Given the description of an element on the screen output the (x, y) to click on. 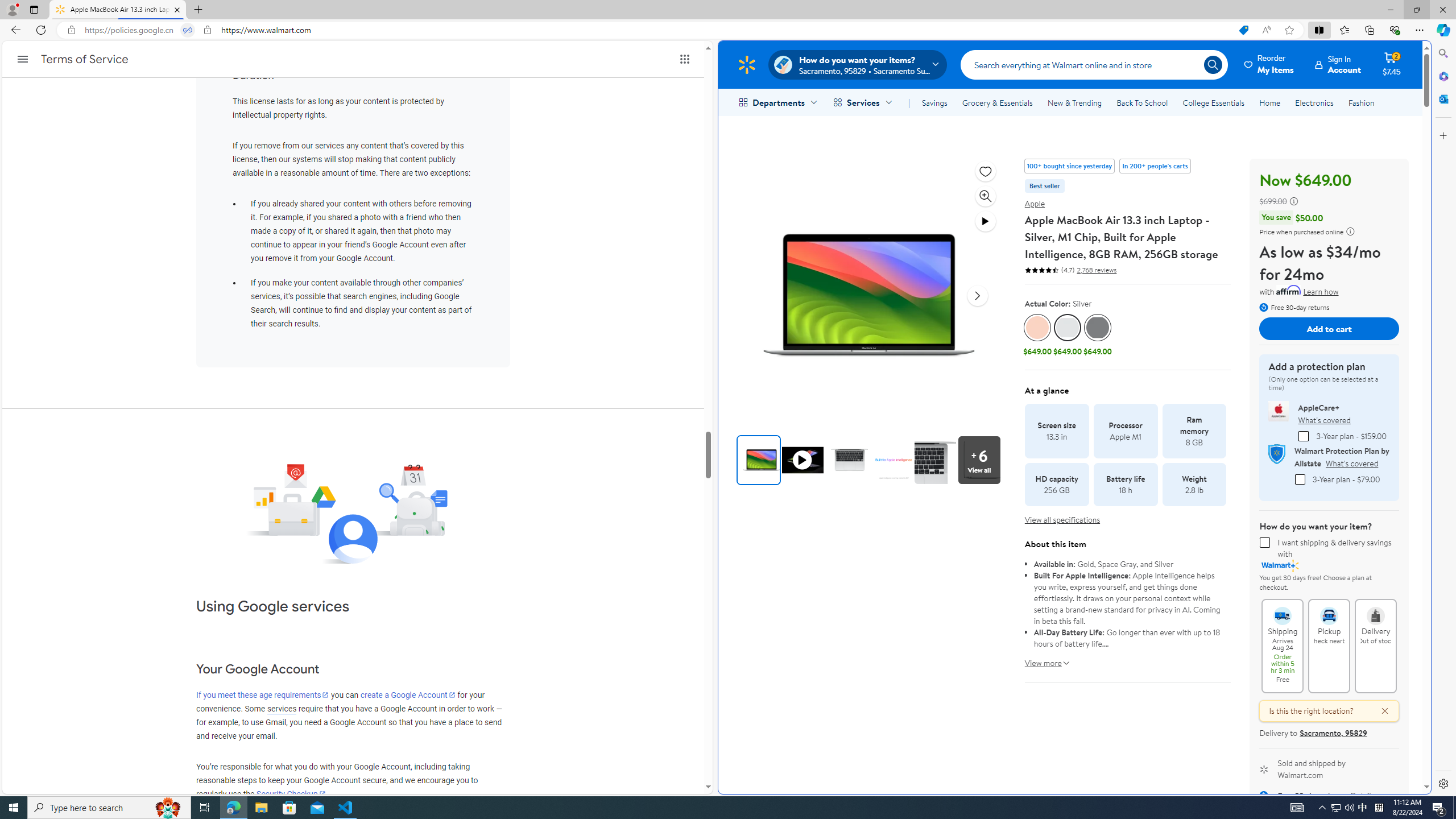
next media item (977, 295)
Walmart plus (1280, 565)
View all media (979, 459)
Fashion (1361, 102)
What's covered of Walmart Protection Plan by Allstate (1351, 463)
